Given the description of an element on the screen output the (x, y) to click on. 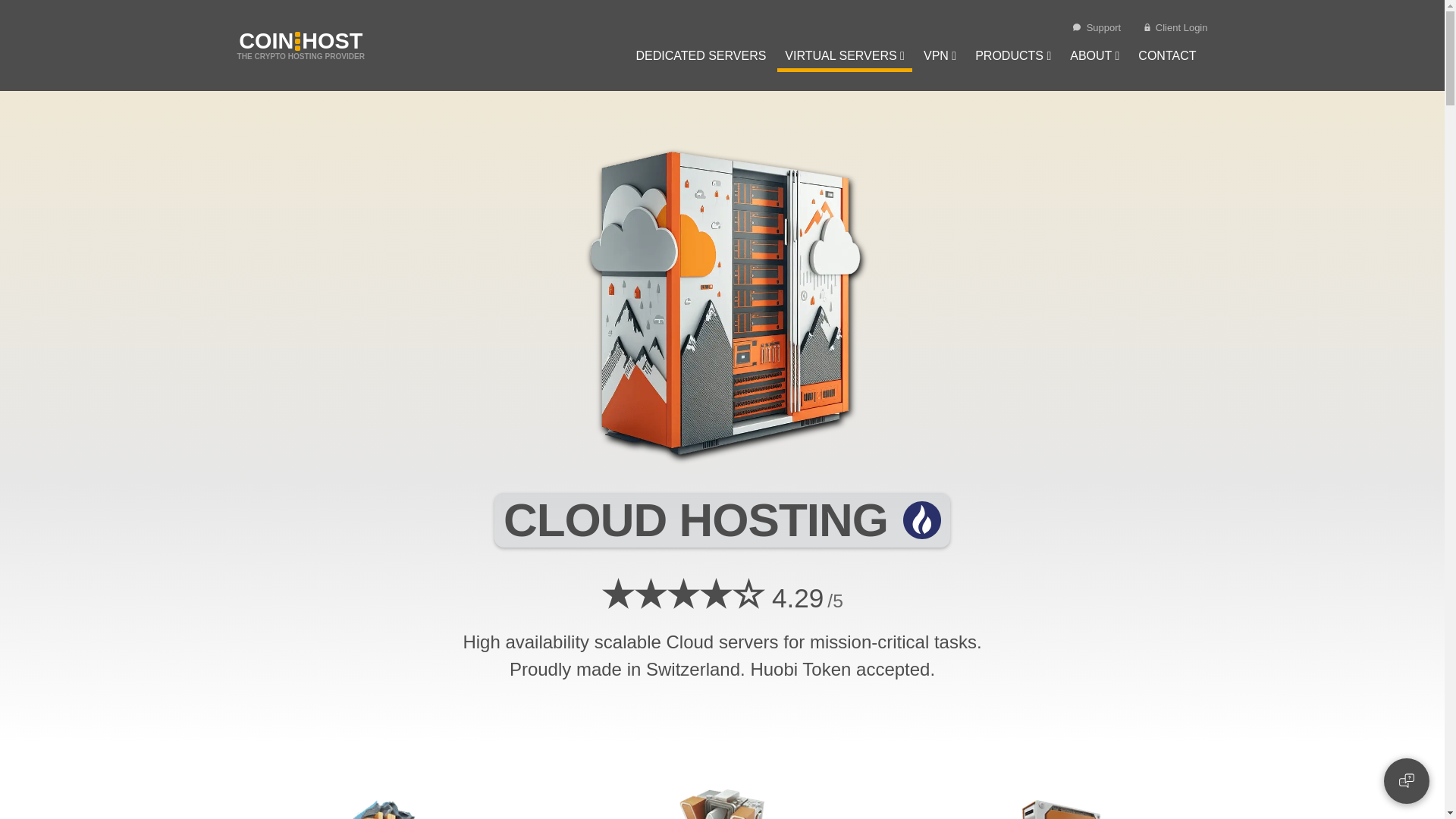
Cloud Hosting - Huobi Token accepted (300, 44)
DEDICATED SERVERS (721, 303)
Client Login (700, 58)
CONTACT (1174, 27)
Average rating: 4.29 out of 5 (1167, 58)
